Given the description of an element on the screen output the (x, y) to click on. 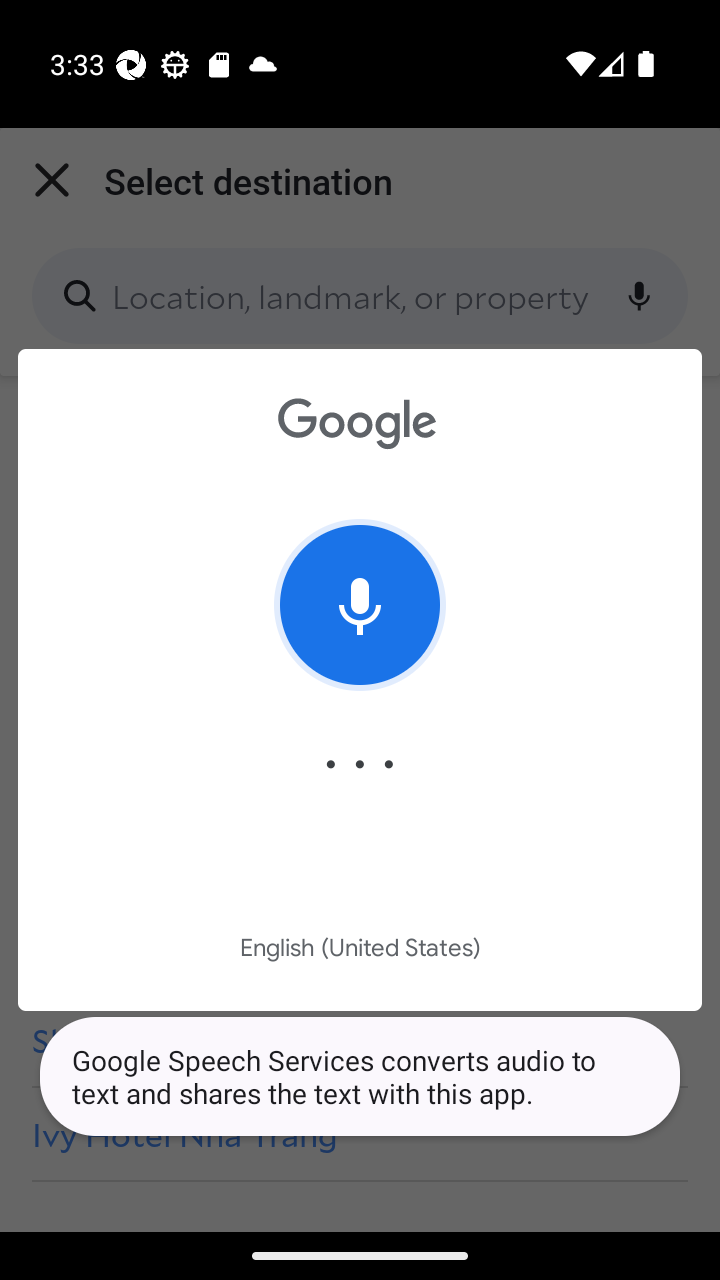
Tap to stop listening (359, 604)
